Given the description of an element on the screen output the (x, y) to click on. 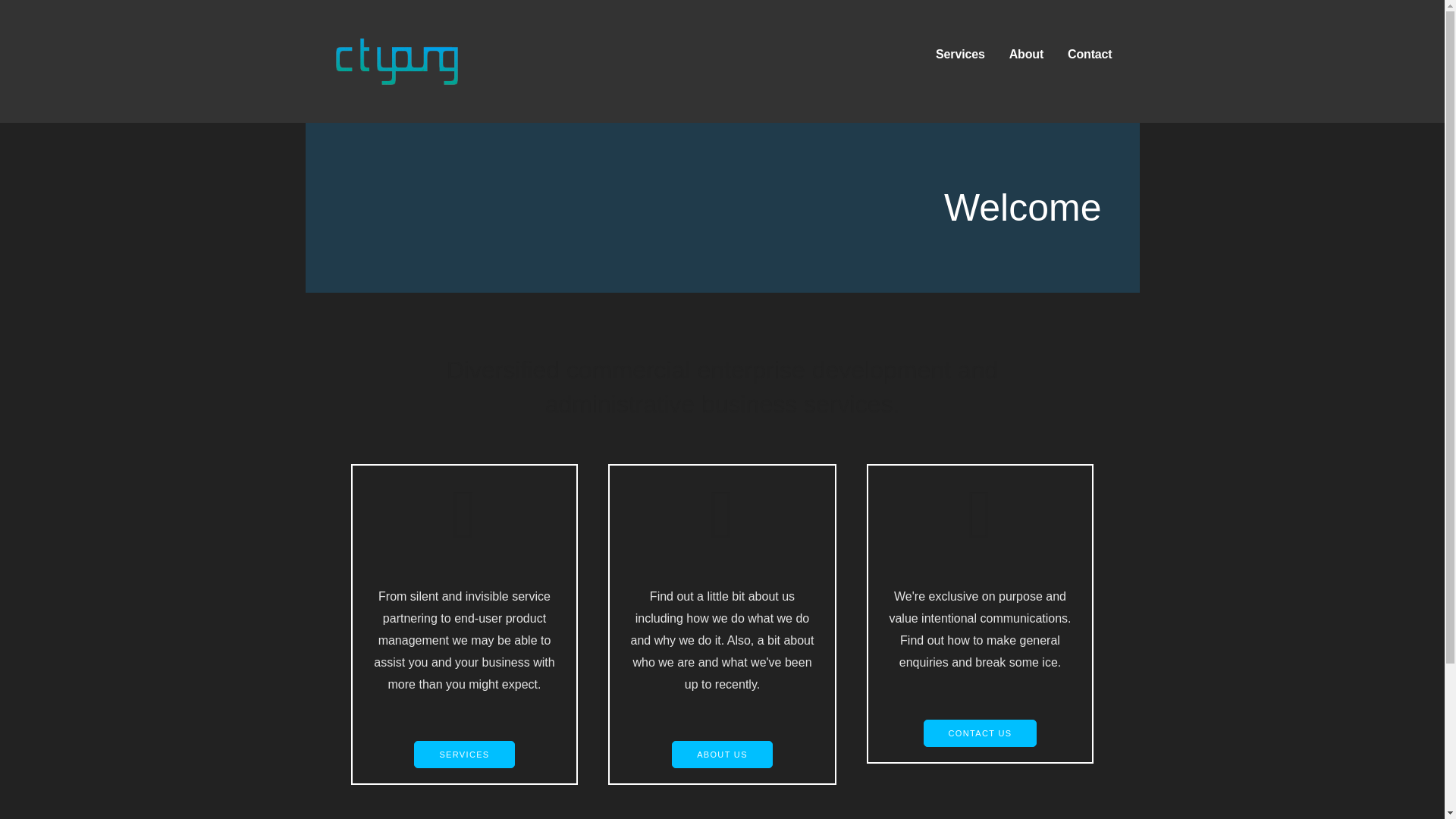
CTYoung Group Enterprises (509, 99)
Contact (1089, 55)
CONTACT US (979, 732)
Services (960, 55)
ABOUT US (722, 754)
SERVICES (463, 754)
About (1026, 55)
